Given the description of an element on the screen output the (x, y) to click on. 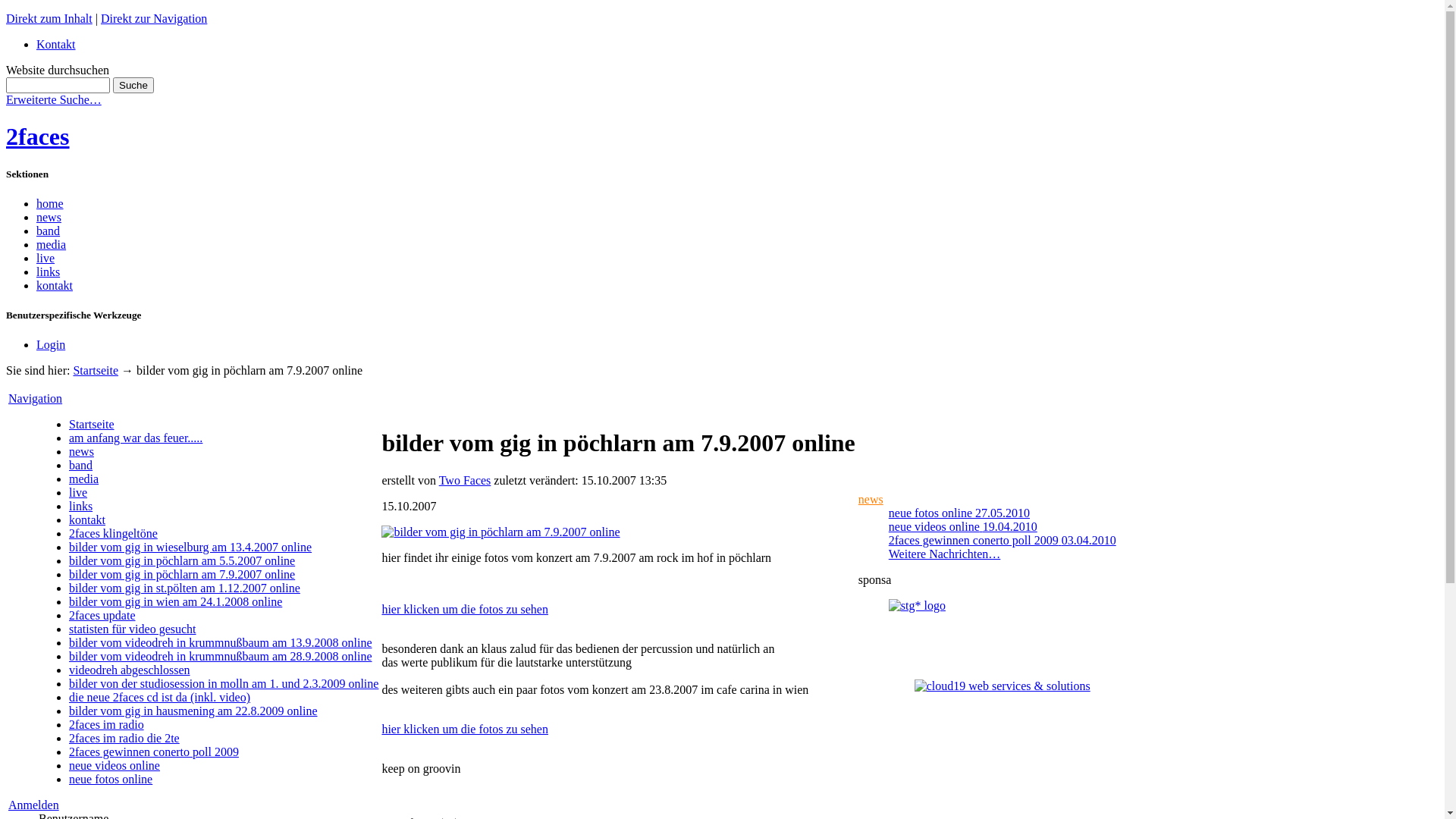
news Element type: text (48, 216)
neue videos online Element type: text (114, 765)
Navigation Element type: text (35, 398)
Startseite Element type: text (91, 423)
neue fotos online Element type: text (110, 778)
Login Element type: text (50, 344)
Website durchsuchen Element type: hover (57, 85)
Direkt zum Inhalt Element type: text (49, 18)
home Element type: text (49, 203)
live Element type: text (78, 492)
live Element type: text (45, 257)
am anfang war das feuer..... Element type: text (135, 437)
neue fotos online 27.05.2010 Element type: text (958, 512)
media Element type: text (50, 244)
bilder vom gig in wien am 24.1.2008 online Element type: text (175, 601)
Kontakt Element type: text (55, 43)
videodreh abgeschlossen Element type: text (129, 669)
band Element type: text (80, 464)
Two Faces Element type: text (465, 479)
kontakt Element type: text (87, 519)
kontakt Element type: text (54, 285)
Startseite Element type: text (95, 370)
media Element type: text (83, 478)
news Element type: text (81, 451)
2faces im radio Element type: text (106, 724)
news Element type: text (870, 498)
hier klicken um die fotos zu sehen Element type: text (464, 608)
bilder vom gig in wieselburg am 13.4.2007 online Element type: text (190, 546)
Direkt zur Navigation Element type: text (153, 18)
2faces im radio die 2te Element type: text (124, 737)
neue videos online 19.04.2010 Element type: text (962, 526)
2faces gewinnen conerto poll 2009 Element type: text (153, 751)
2faces Element type: text (37, 136)
2faces update Element type: text (102, 614)
band Element type: text (47, 230)
Anmelden Element type: text (33, 804)
die neue 2faces cd ist da (inkl. video) Element type: text (159, 696)
hier klicken um die fotos zu sehen Element type: text (464, 728)
links Element type: text (47, 271)
2faces gewinnen conerto poll 2009 03.04.2010 Element type: text (1002, 539)
bilder vom gig in hausmening am 22.8.2009 online Element type: text (193, 710)
links Element type: text (80, 505)
Suche Element type: text (132, 85)
